Given the description of an element on the screen output the (x, y) to click on. 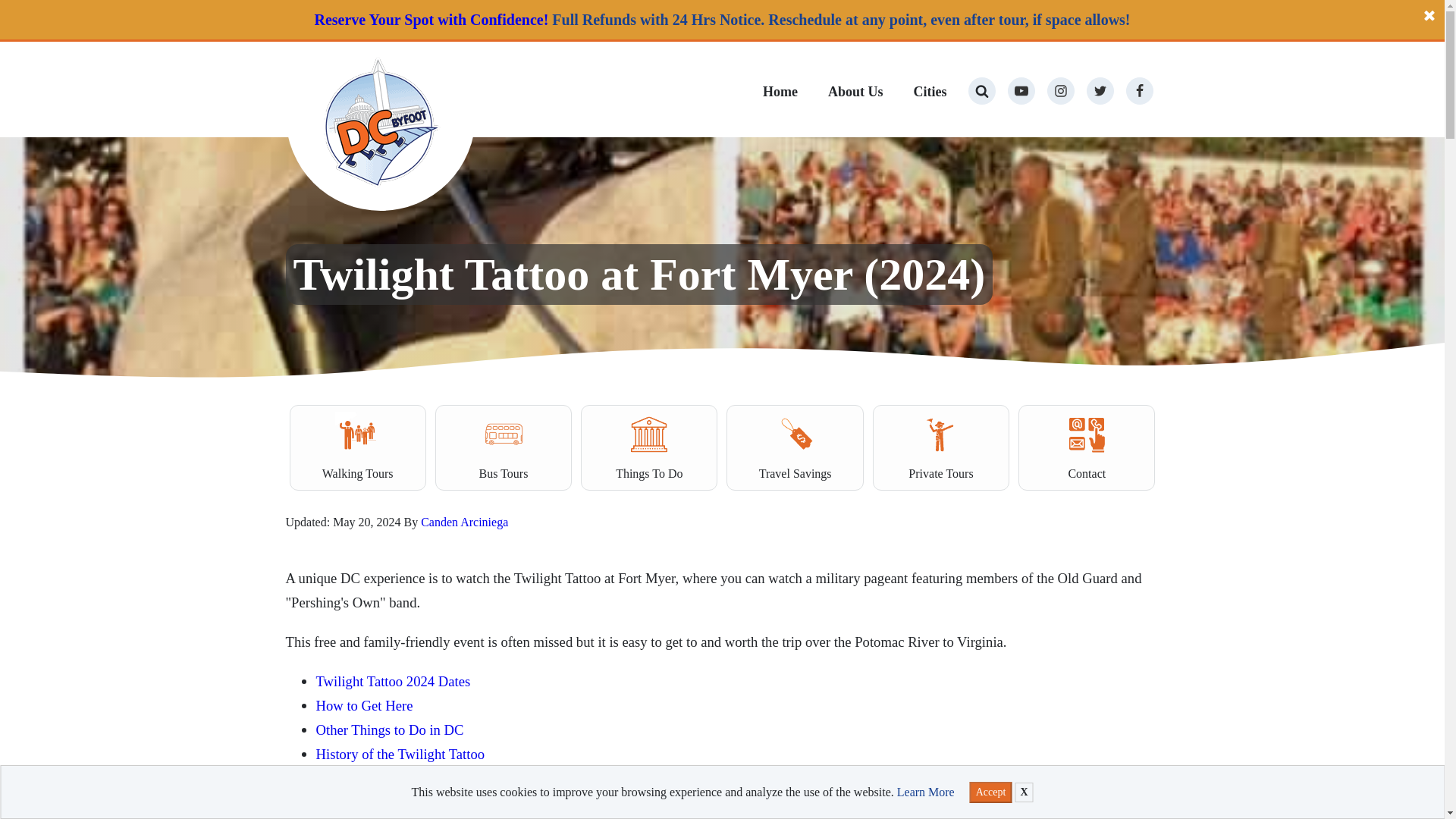
Search (26, 14)
Canden Arciniega (464, 521)
X (1023, 792)
Contact (1085, 447)
Walking Tours (357, 447)
Private Tours (940, 447)
Learn More (925, 791)
Reserve Your Spot with Confidence! (431, 19)
About Us (855, 93)
Accept (990, 792)
